Given the description of an element on the screen output the (x, y) to click on. 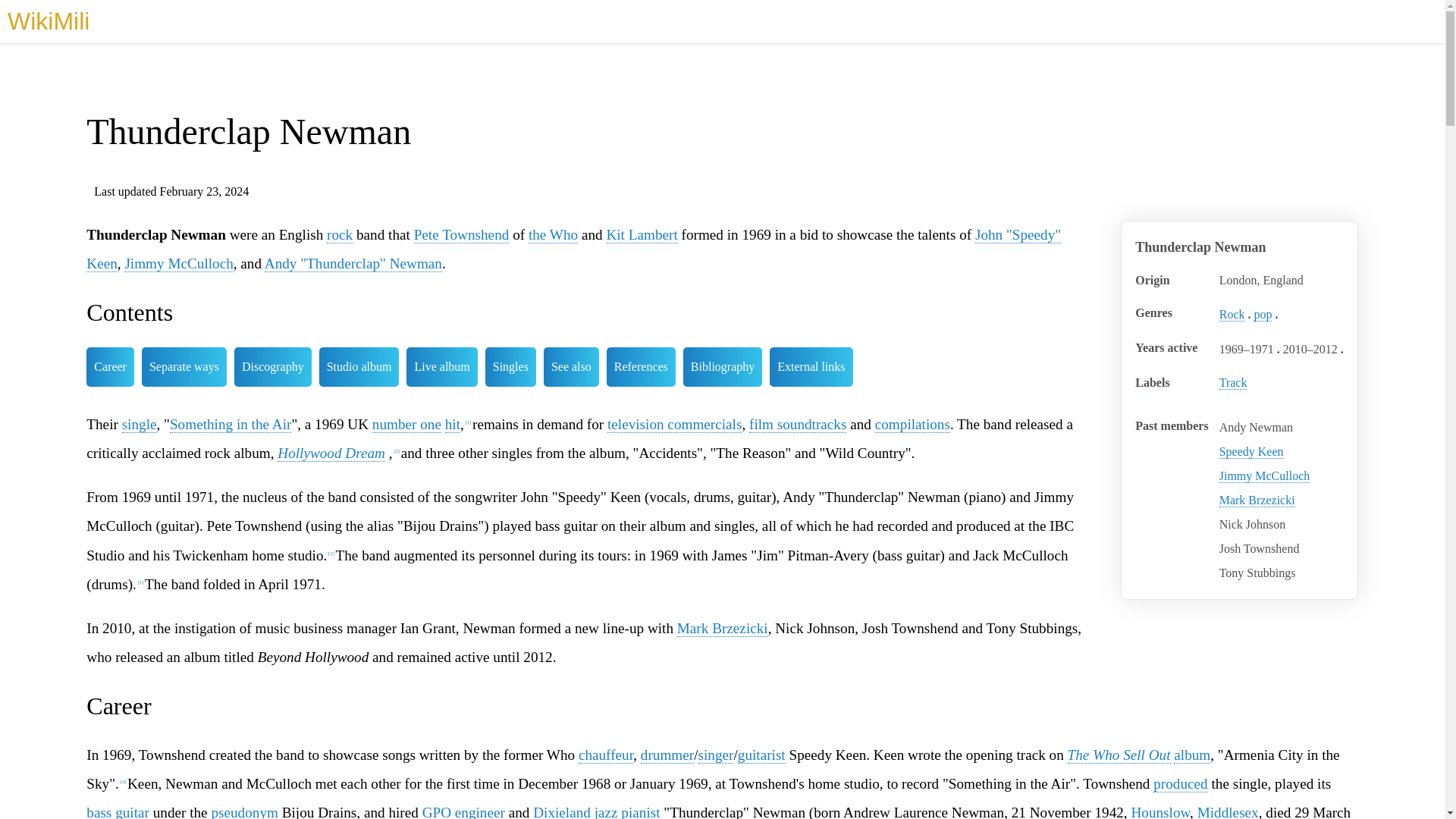
Live album (441, 366)
Something in the Air (230, 424)
Something in the Air (230, 424)
Bibliography (721, 366)
Career (109, 366)
Pete Townshend (461, 234)
WikiMili (47, 21)
Rock (1232, 314)
Chart-topper (406, 424)
Jimmy McCulloch (1265, 476)
pop (1262, 314)
Jimmy McCulloch (177, 263)
Andy "Thunderclap" Newman (353, 263)
References (641, 366)
Kit Lambert (641, 234)
